Given the description of an element on the screen output the (x, y) to click on. 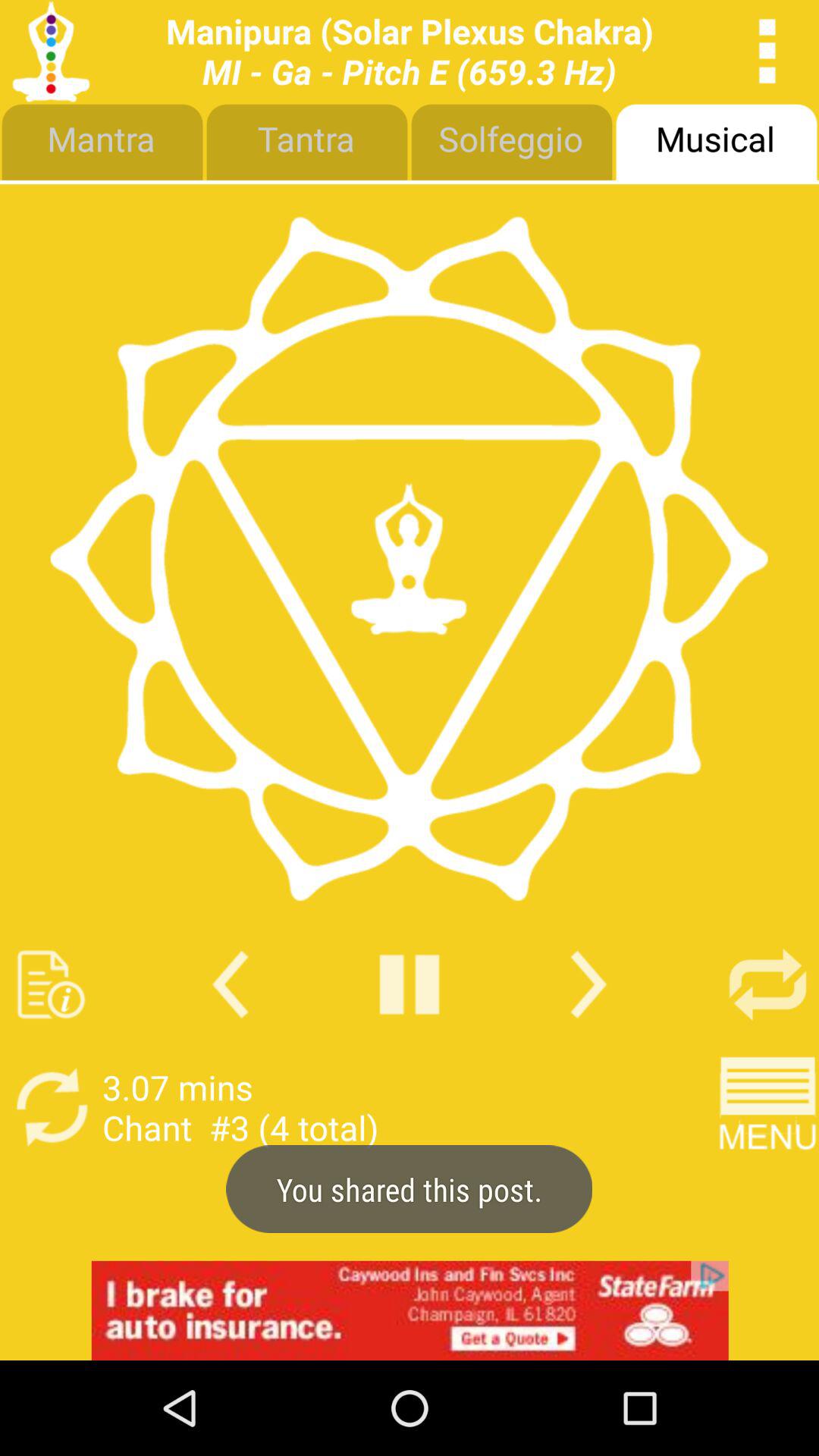
go to advertisement (409, 1310)
